Given the description of an element on the screen output the (x, y) to click on. 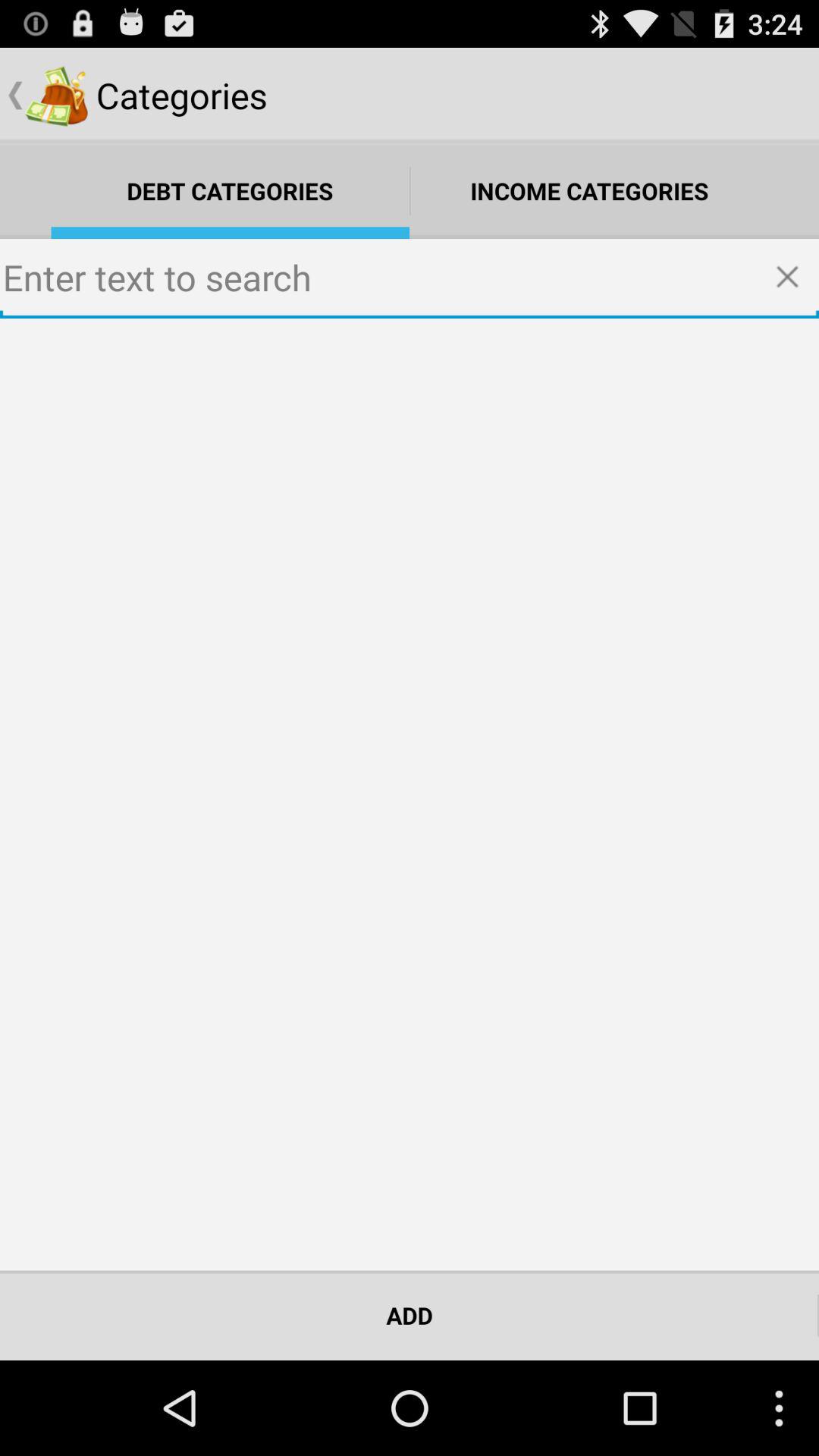
press item at the center (409, 794)
